Given the description of an element on the screen output the (x, y) to click on. 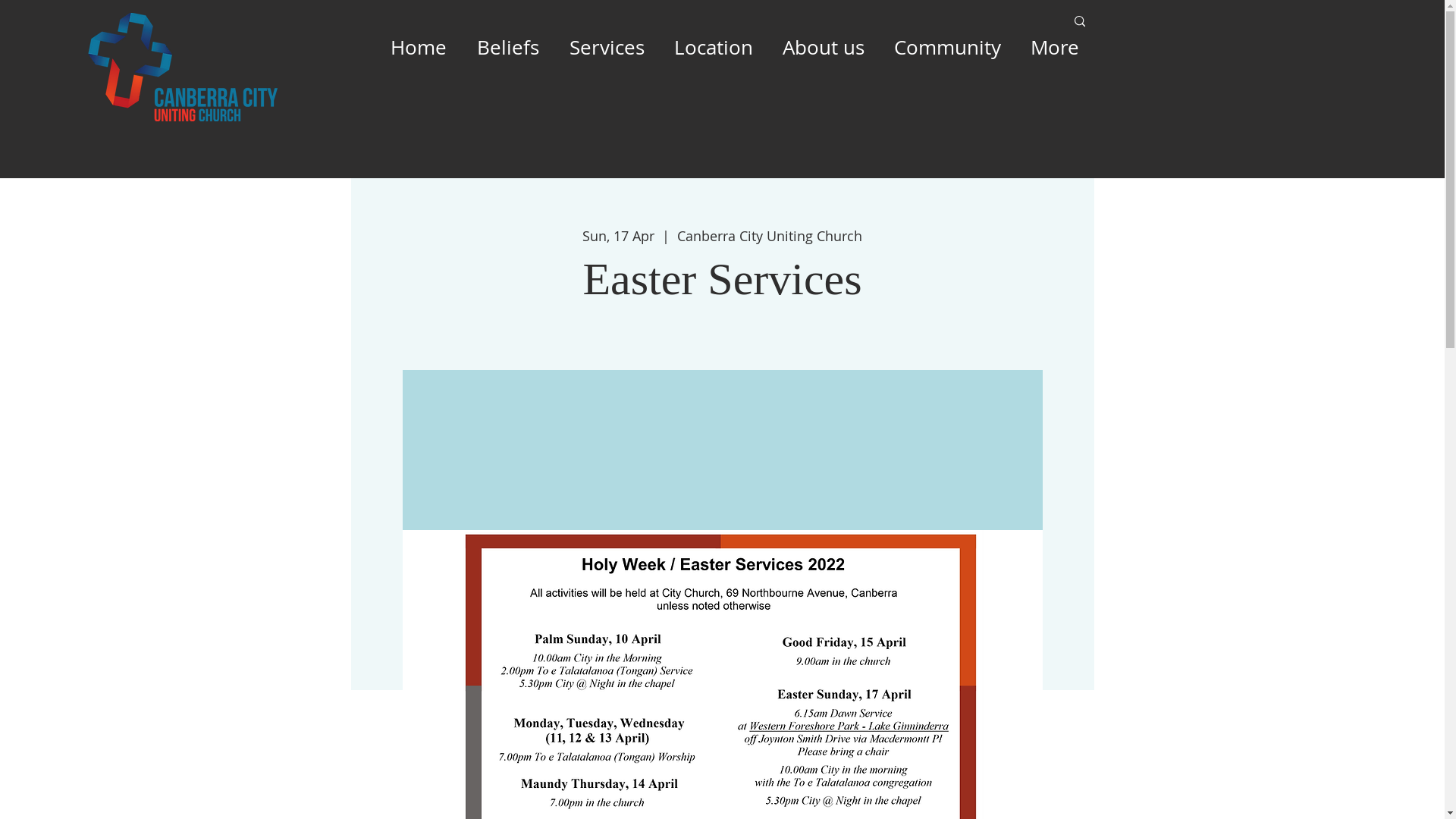
Location Element type: text (713, 47)
Home Element type: text (417, 47)
TWIPLA (Visitor Analytics) Element type: hover (1442, 4)
Beliefs Element type: text (507, 47)
